Given the description of an element on the screen output the (x, y) to click on. 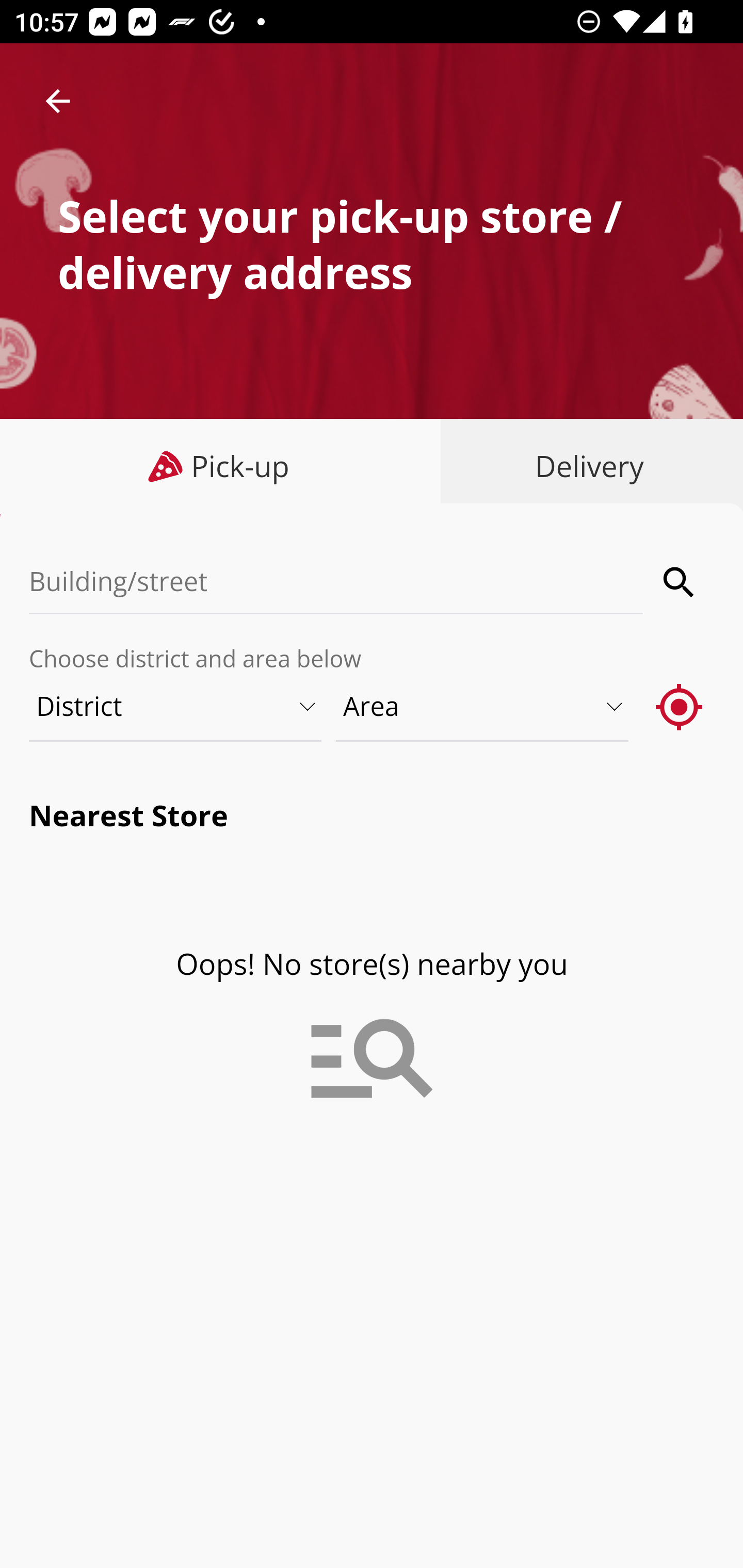
arrow_back (58, 100)
Pick-up (221, 466)
Delivery (585, 466)
search (679, 582)
gps_fixed (679, 706)
District (175, 706)
Area (482, 706)
